Given the description of an element on the screen output the (x, y) to click on. 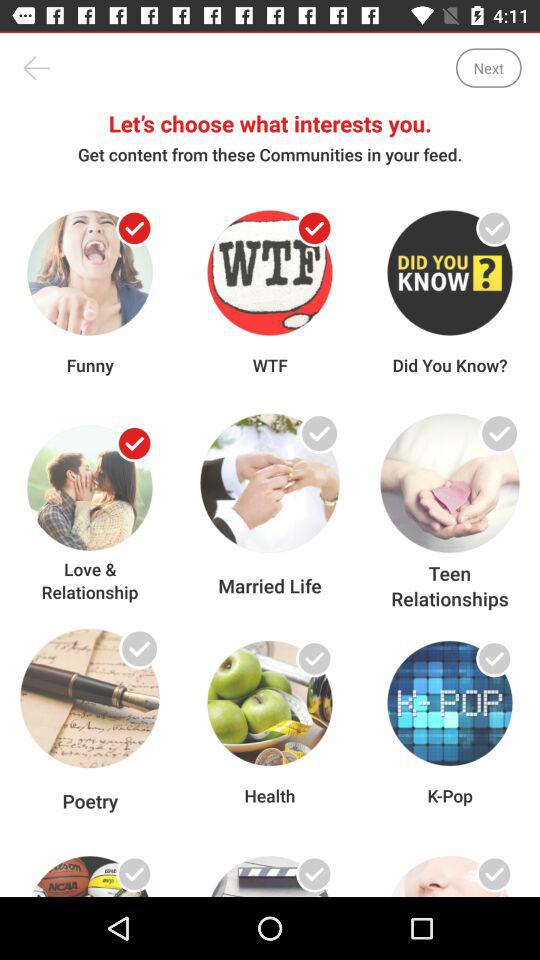
sets health as a community in your feed (314, 658)
